Given the description of an element on the screen output the (x, y) to click on. 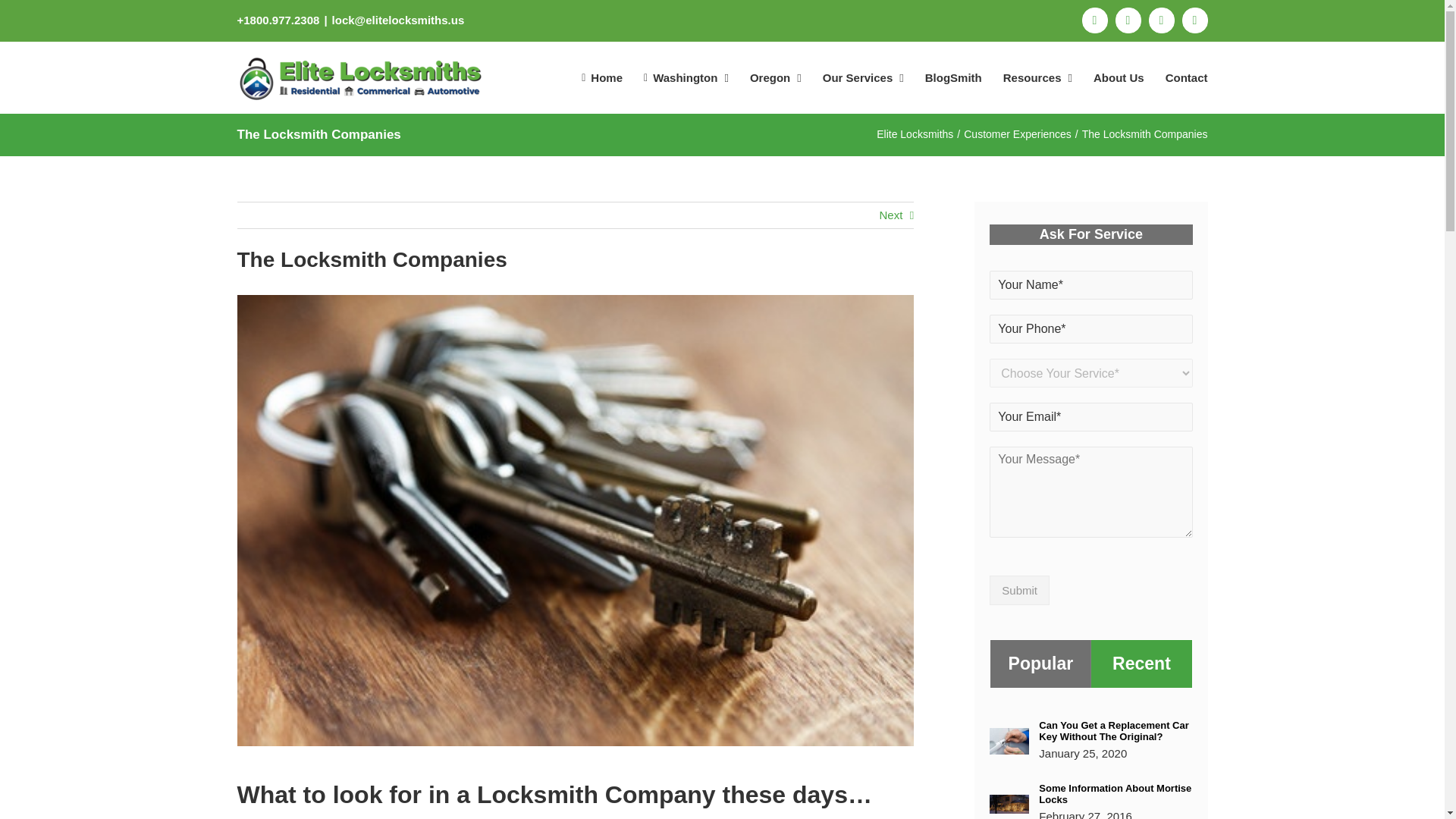
Email (1193, 20)
Facebook (1093, 20)
Twitter (1160, 20)
Email (1193, 20)
Pinterest (1127, 20)
Twitter (1160, 20)
Washington (686, 77)
Facebook (1093, 20)
Pinterest (1127, 20)
